Given the description of an element on the screen output the (x, y) to click on. 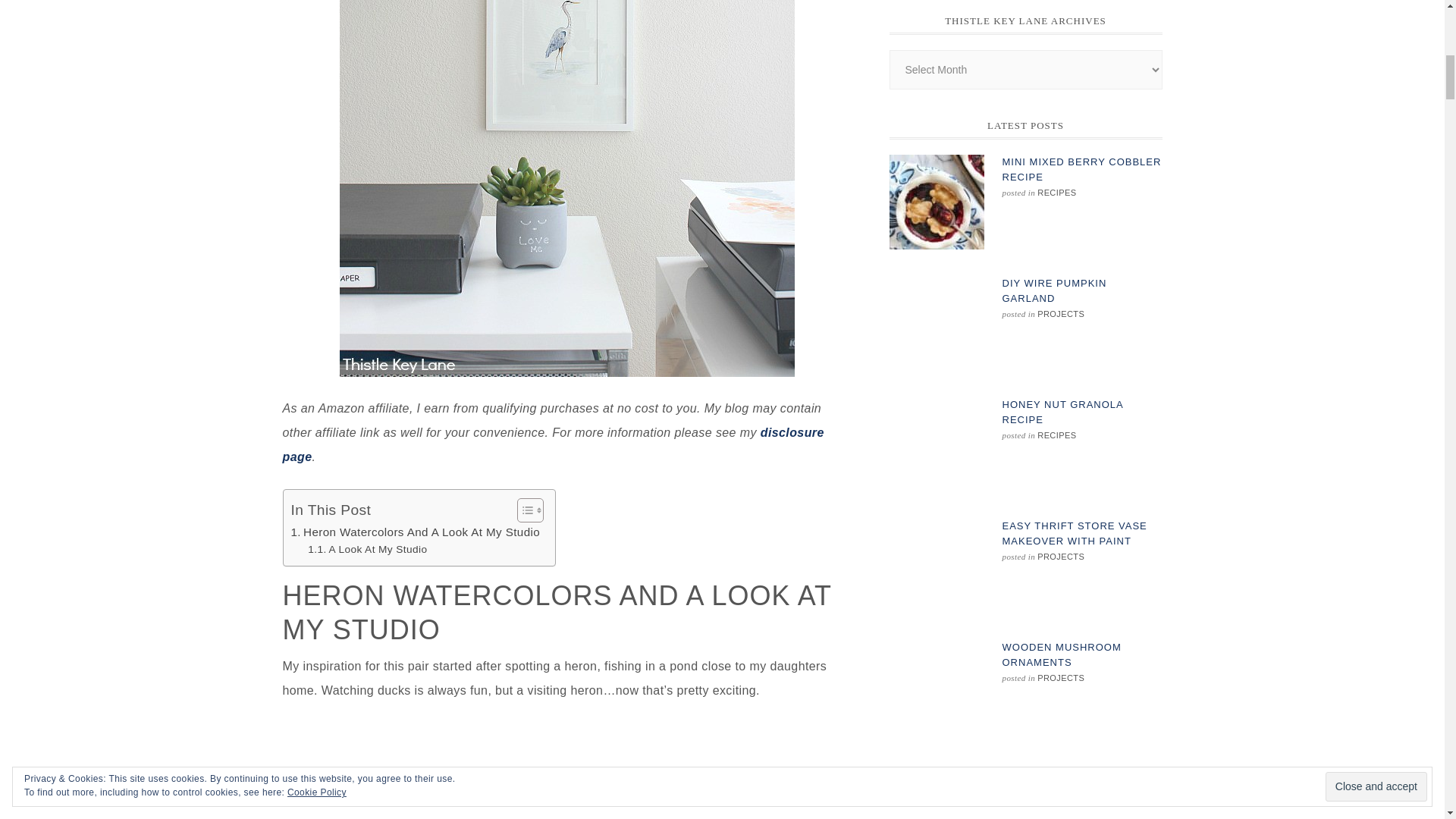
A Look At My Studio (366, 549)
disclosure page (553, 444)
Heron Watercolors And A Look At My Studio (415, 532)
Heron Watercolors And A Look At My Studio (415, 532)
A Look At My Studio (366, 549)
